Given the description of an element on the screen output the (x, y) to click on. 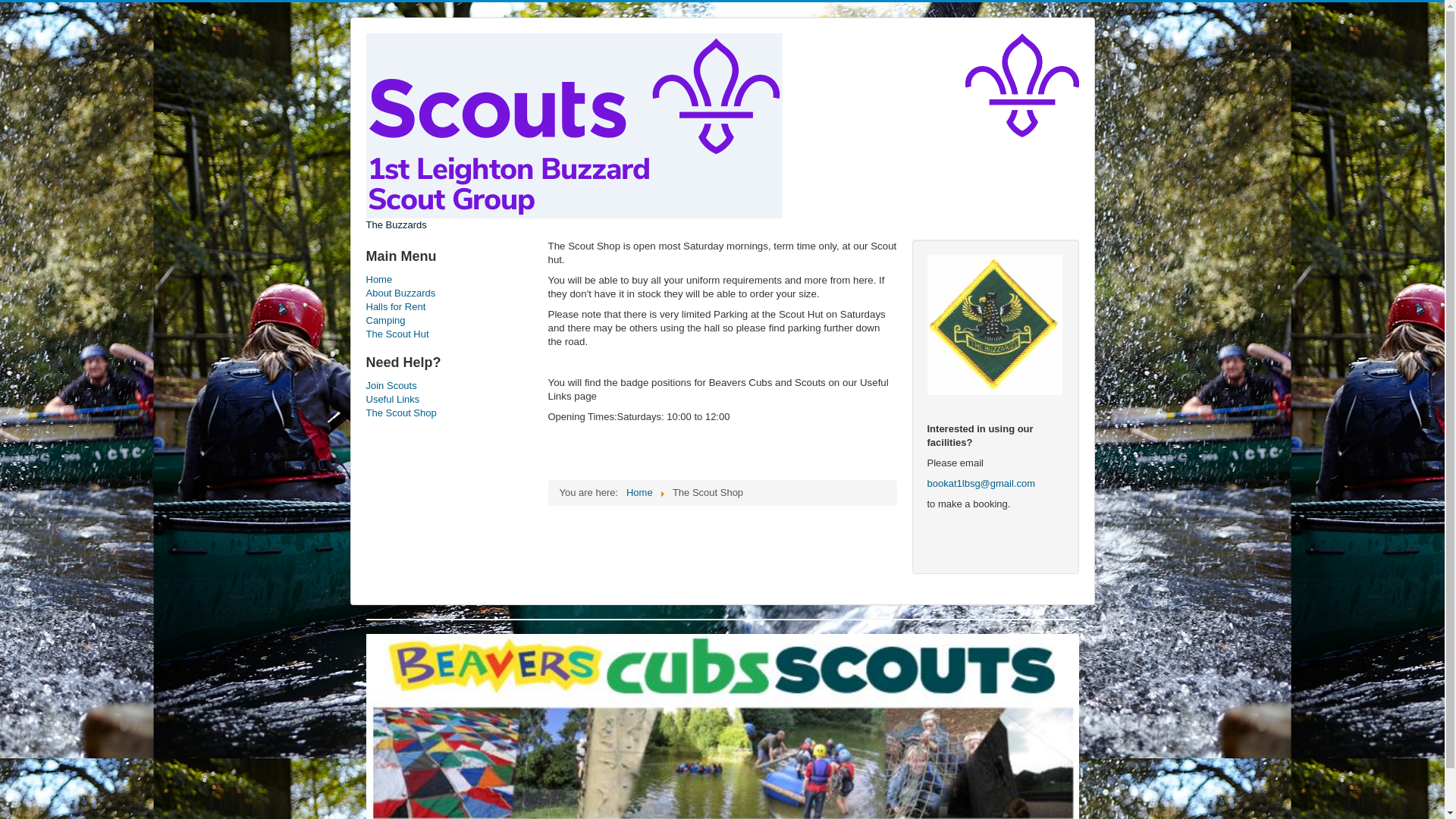
Useful Links (448, 399)
Camping (448, 320)
Home (639, 491)
The Buzzards (573, 132)
About Buzzards (448, 293)
The Scout Hut (448, 334)
Join Scouts (448, 386)
Home (448, 279)
The Scout Shop (448, 413)
Halls for Rent (448, 306)
